Given the description of an element on the screen output the (x, y) to click on. 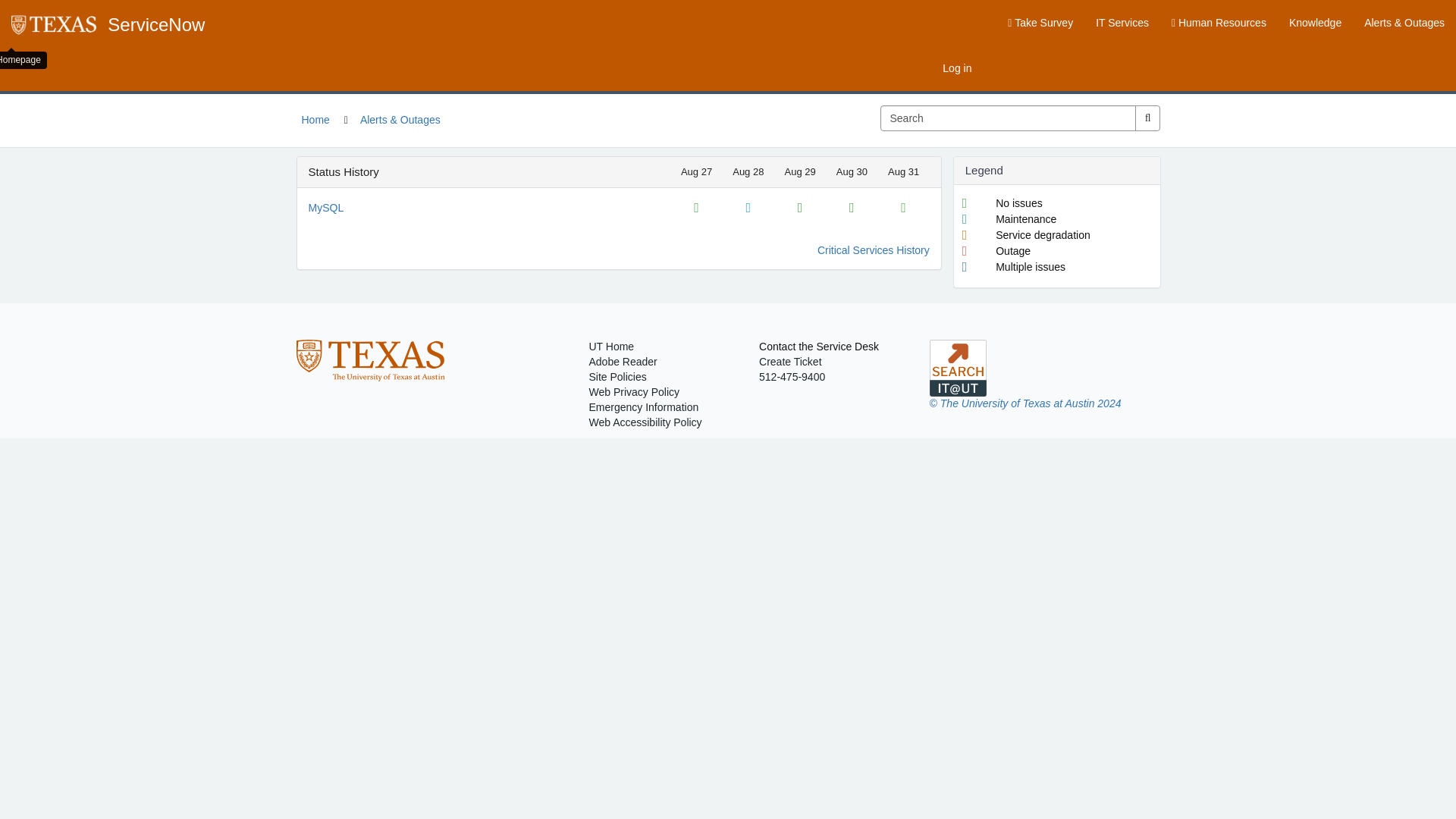
Emergency Information (643, 407)
MySQL (325, 207)
Site Policies (617, 377)
Web Privacy Policy (633, 391)
Human Resources (1219, 22)
Knowledge (1315, 22)
512-475-9400 (791, 377)
Web Accessibility Policy (644, 422)
Take Survey (1039, 22)
www.utexas.edu (53, 24)
